Given the description of an element on the screen output the (x, y) to click on. 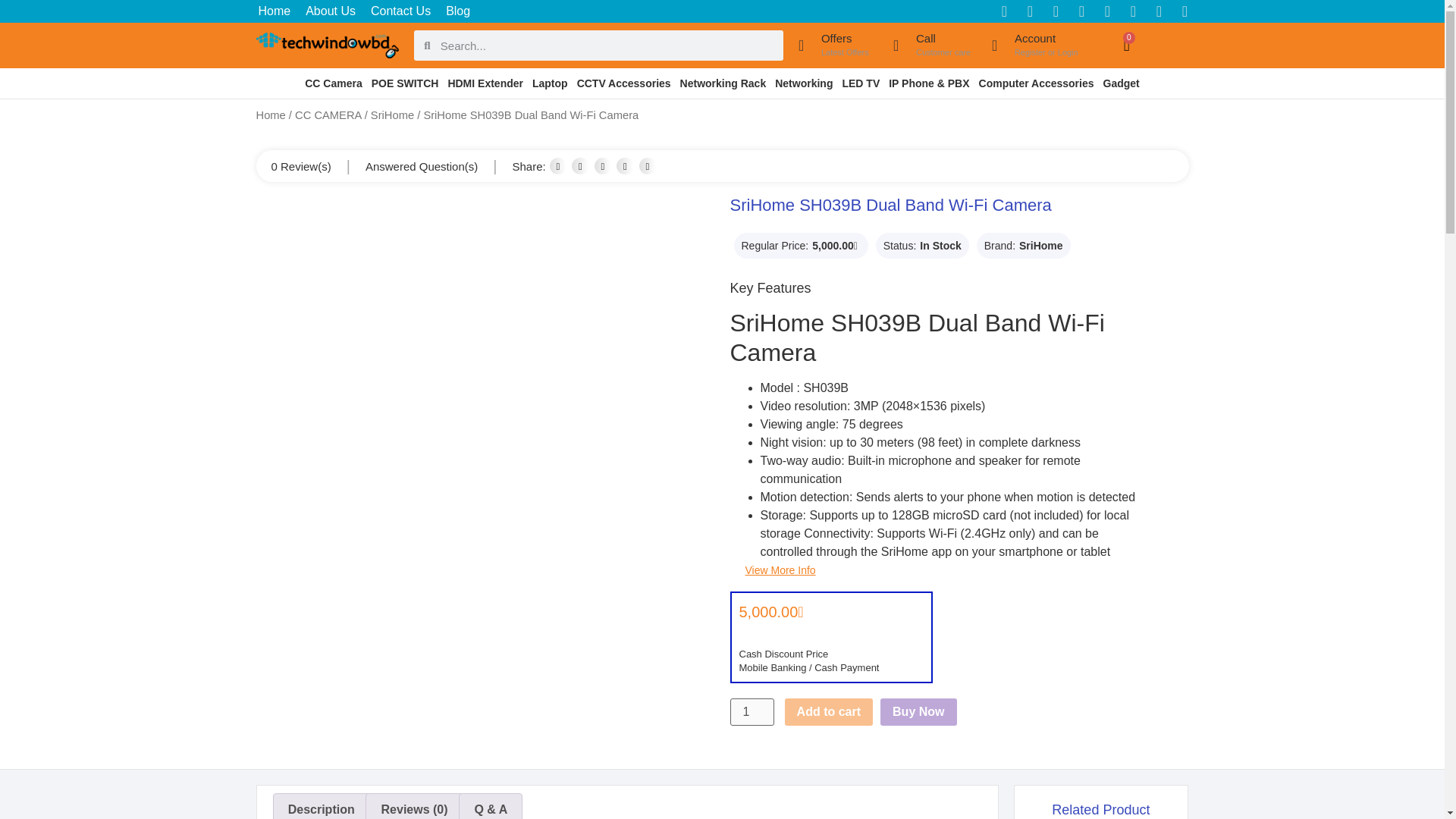
Blog (1033, 44)
1 (837, 44)
Contact Us (457, 11)
About Us (751, 711)
Home (400, 11)
CC Camera (330, 11)
